Given the description of an element on the screen output the (x, y) to click on. 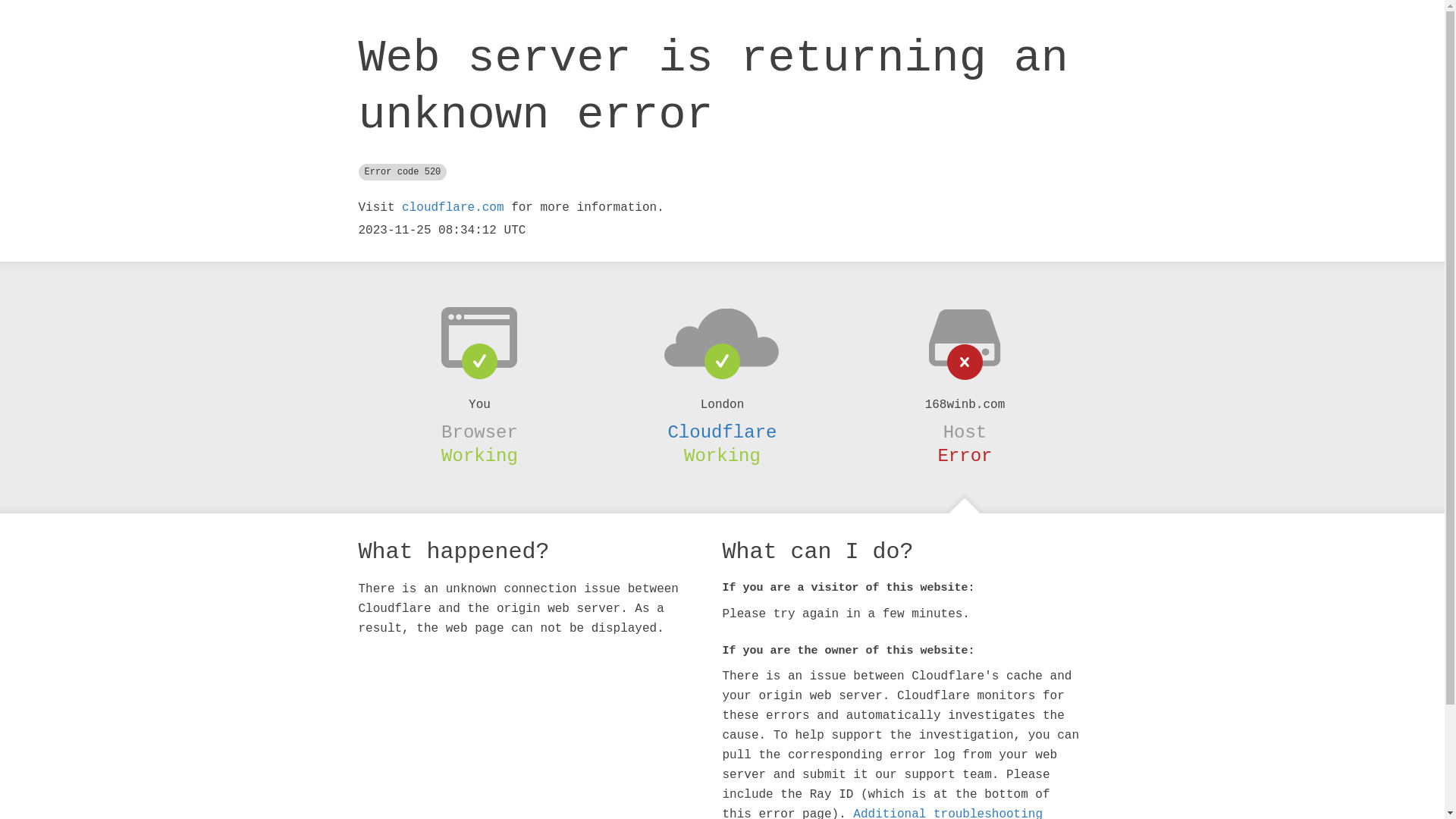
cloudflare.com Element type: text (452, 207)
Cloudflare Element type: text (721, 432)
